Given the description of an element on the screen output the (x, y) to click on. 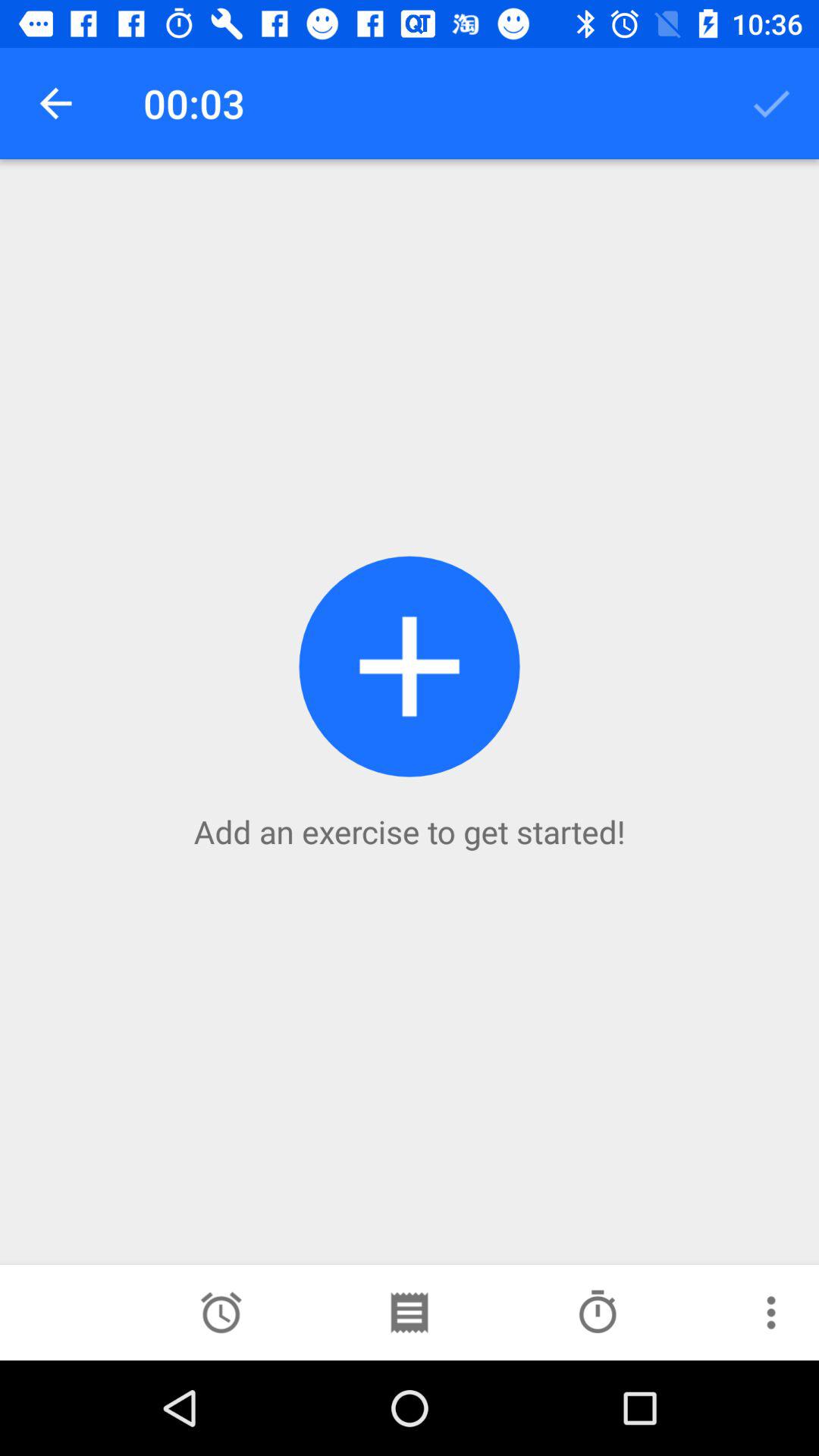
timer option (221, 1312)
